Given the description of an element on the screen output the (x, y) to click on. 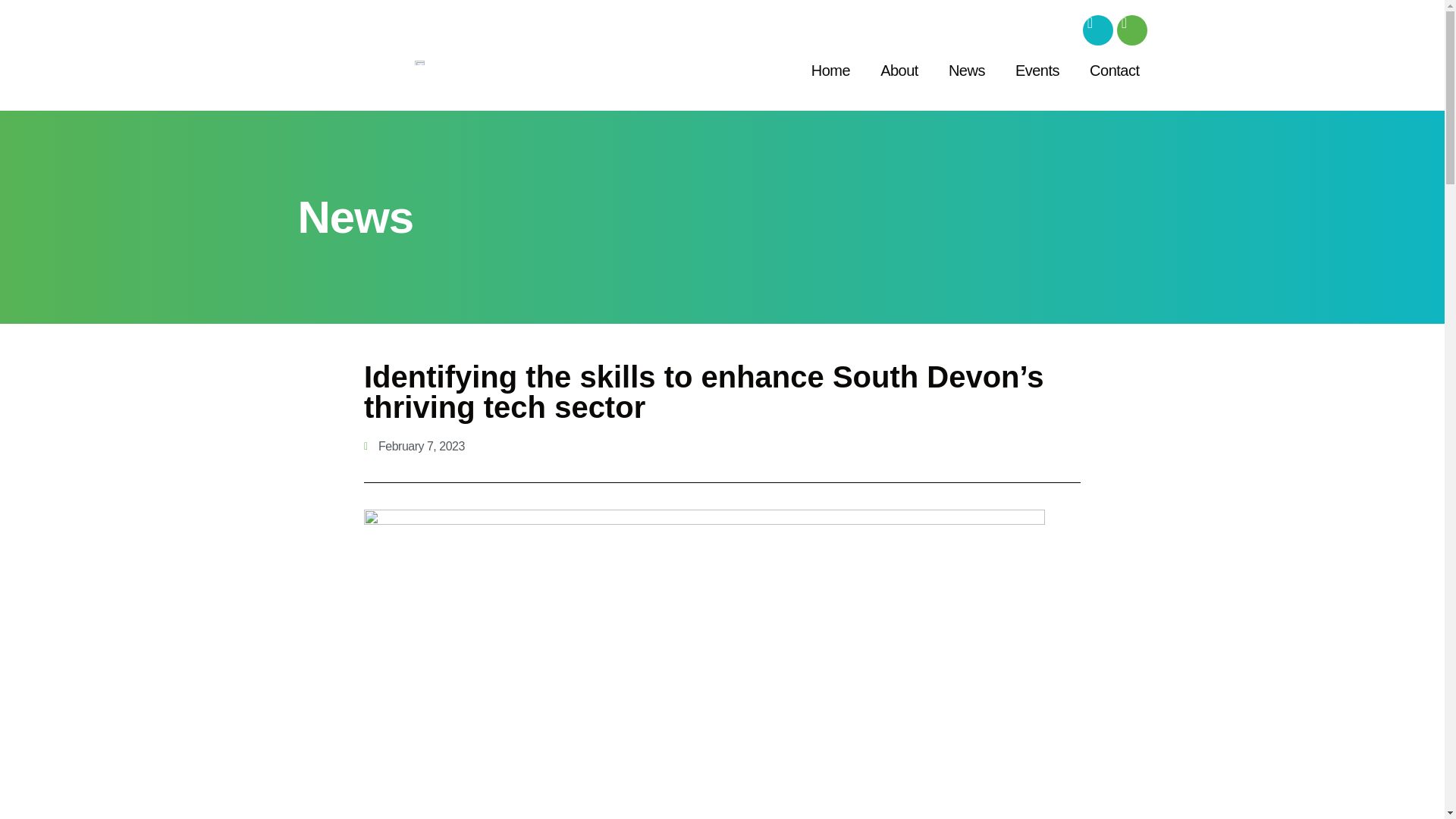
News (966, 70)
Events (1037, 70)
February 7, 2023 (414, 446)
Home (830, 70)
Contact (1114, 70)
About (898, 70)
